Given the description of an element on the screen output the (x, y) to click on. 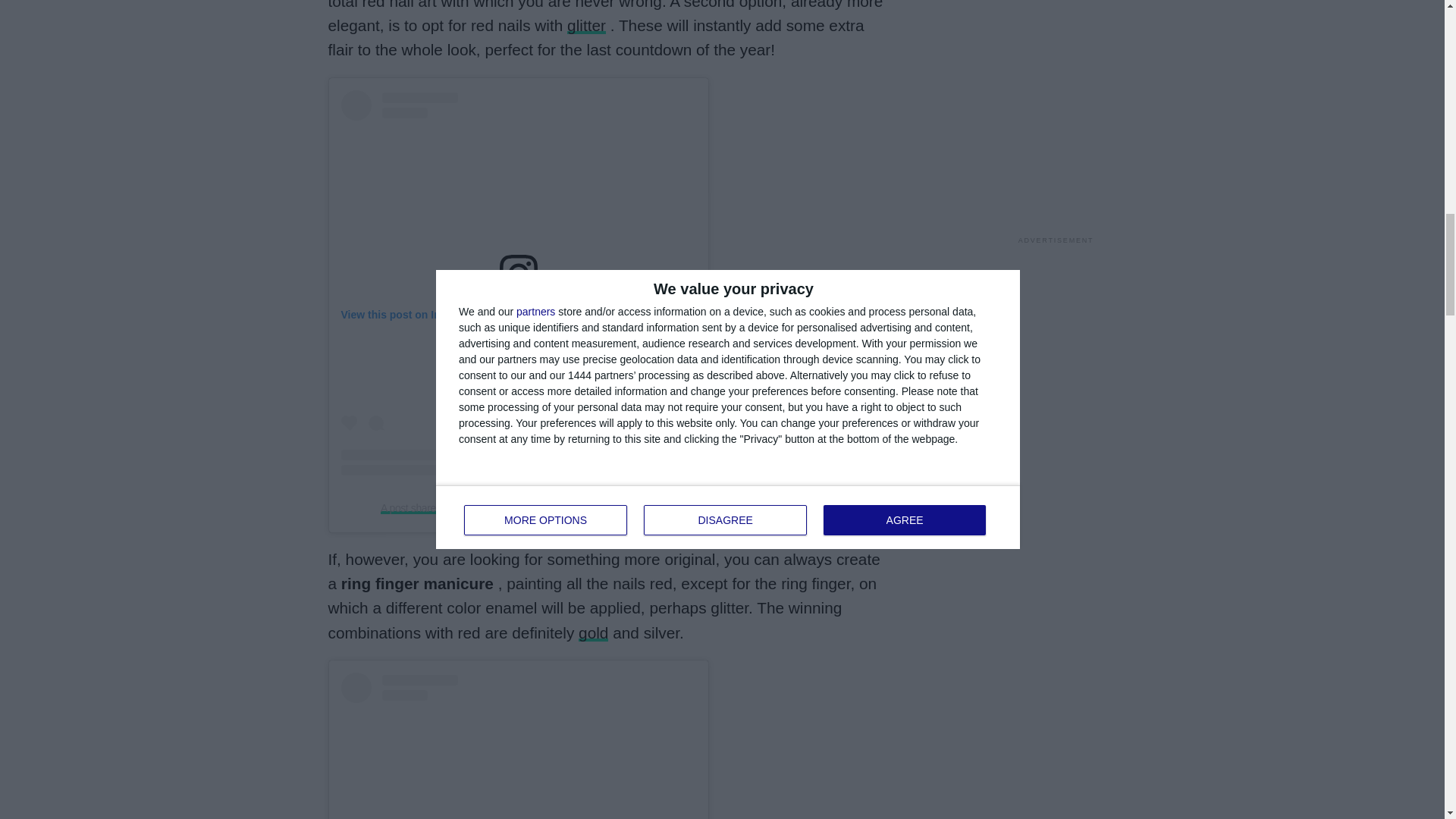
glitter (586, 25)
gold (593, 632)
